Given the description of an element on the screen output the (x, y) to click on. 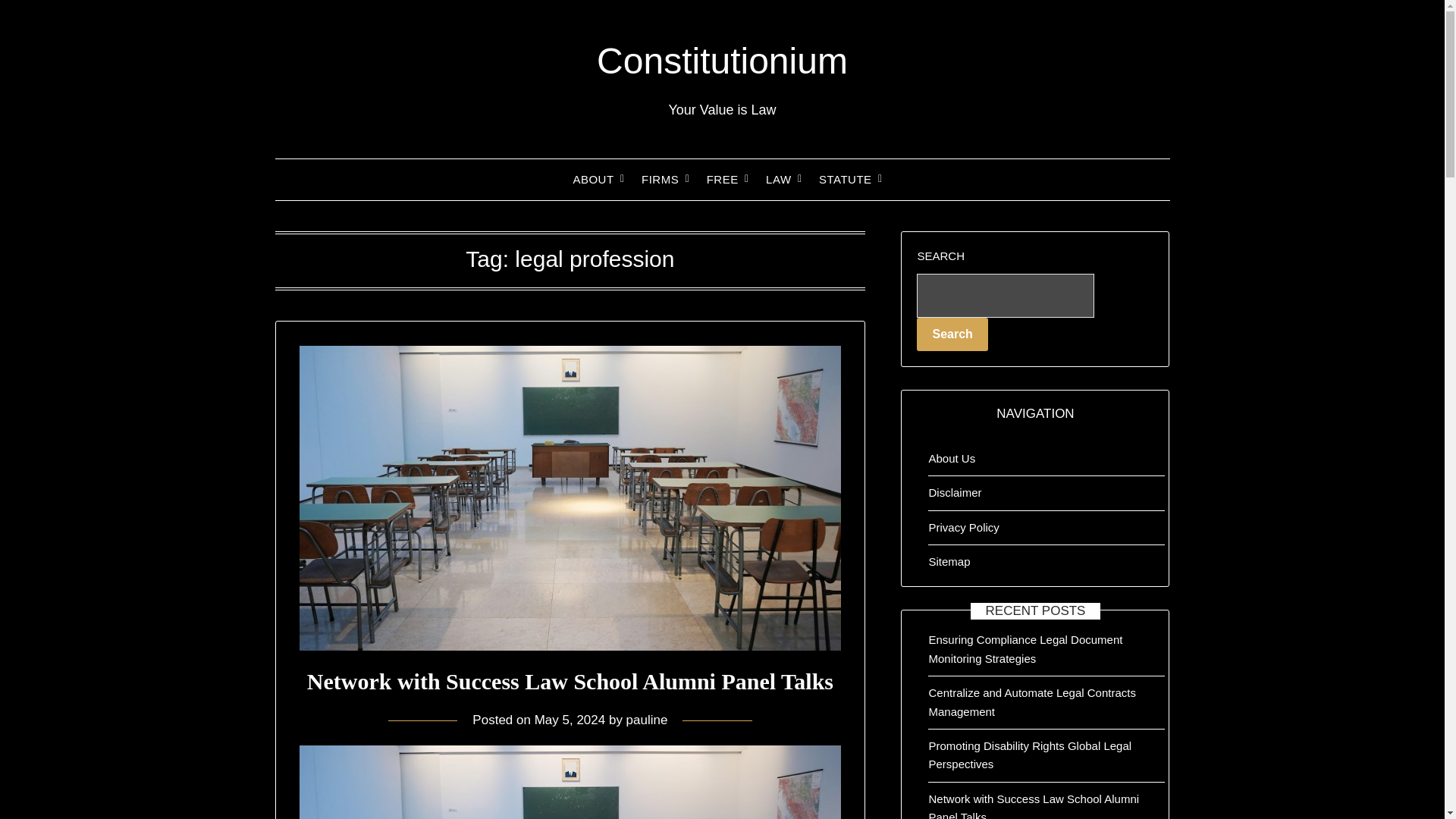
Network with Success Law School Alumni Panel Talks (570, 782)
May 5, 2024 (569, 719)
Constitutionium (721, 60)
LAW (778, 178)
Network with Success Law School Alumni Panel Talks (569, 681)
STATUTE (844, 178)
pauline (647, 719)
FIRMS (659, 178)
ABOUT (593, 178)
